Given the description of an element on the screen output the (x, y) to click on. 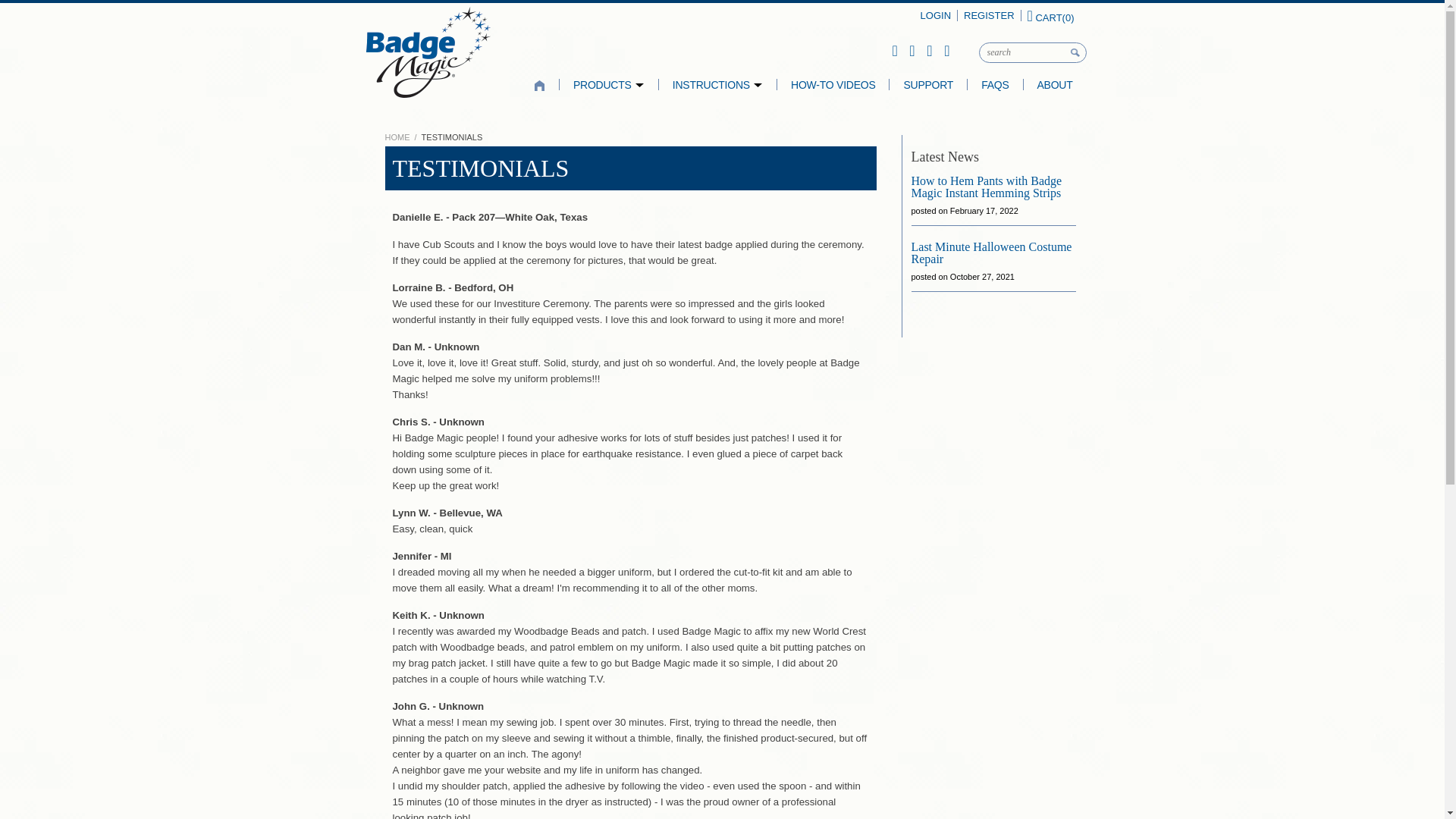
Badge Magic (427, 51)
INSTRUCTIONS   (717, 84)
REGISTER (988, 15)
LOGIN (935, 15)
Join Badge Magic on Pinterest (928, 50)
Last Minute Halloween Costume Repair (991, 252)
Join Badge Magic on Facebook (893, 50)
Back to the frontpage (397, 136)
Search (1075, 57)
How to Hem Pants with Badge Magic Instant Hemming Strips (986, 186)
PRODUCTS   (609, 84)
Search (1075, 57)
Watch Badge Magic on YouTube (911, 50)
HOME (397, 136)
HOW-TO VIDEOS (832, 84)
